Given the description of an element on the screen output the (x, y) to click on. 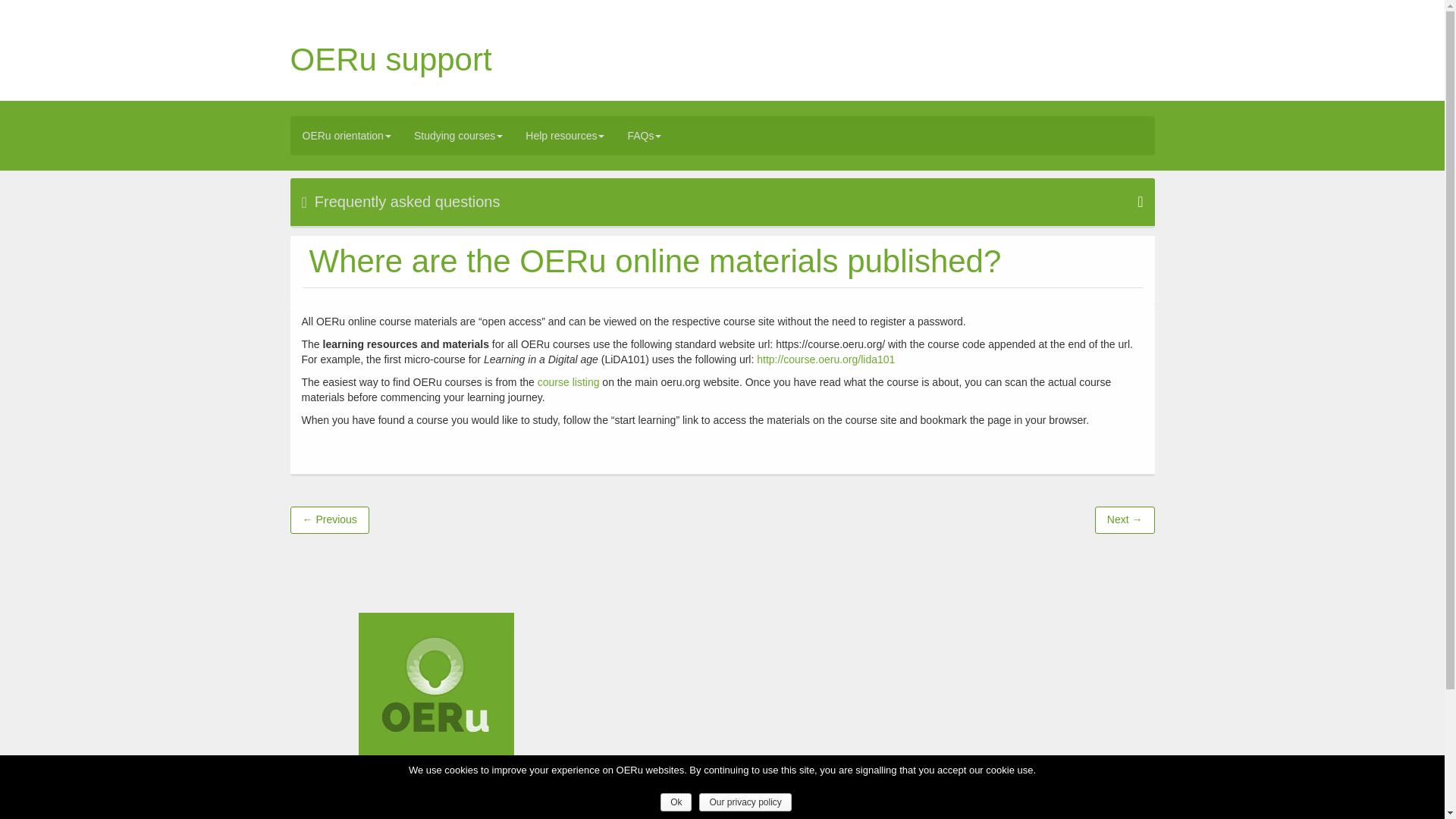
OERu orientation (347, 135)
Help resources (564, 135)
Frequently asked questions (721, 202)
OERu support (390, 58)
WikiEducator:Copyrights (980, 810)
institution logo (435, 689)
Studying courses (458, 135)
original content in WikiEducator (785, 810)
FAQs (643, 135)
